Given the description of an element on the screen output the (x, y) to click on. 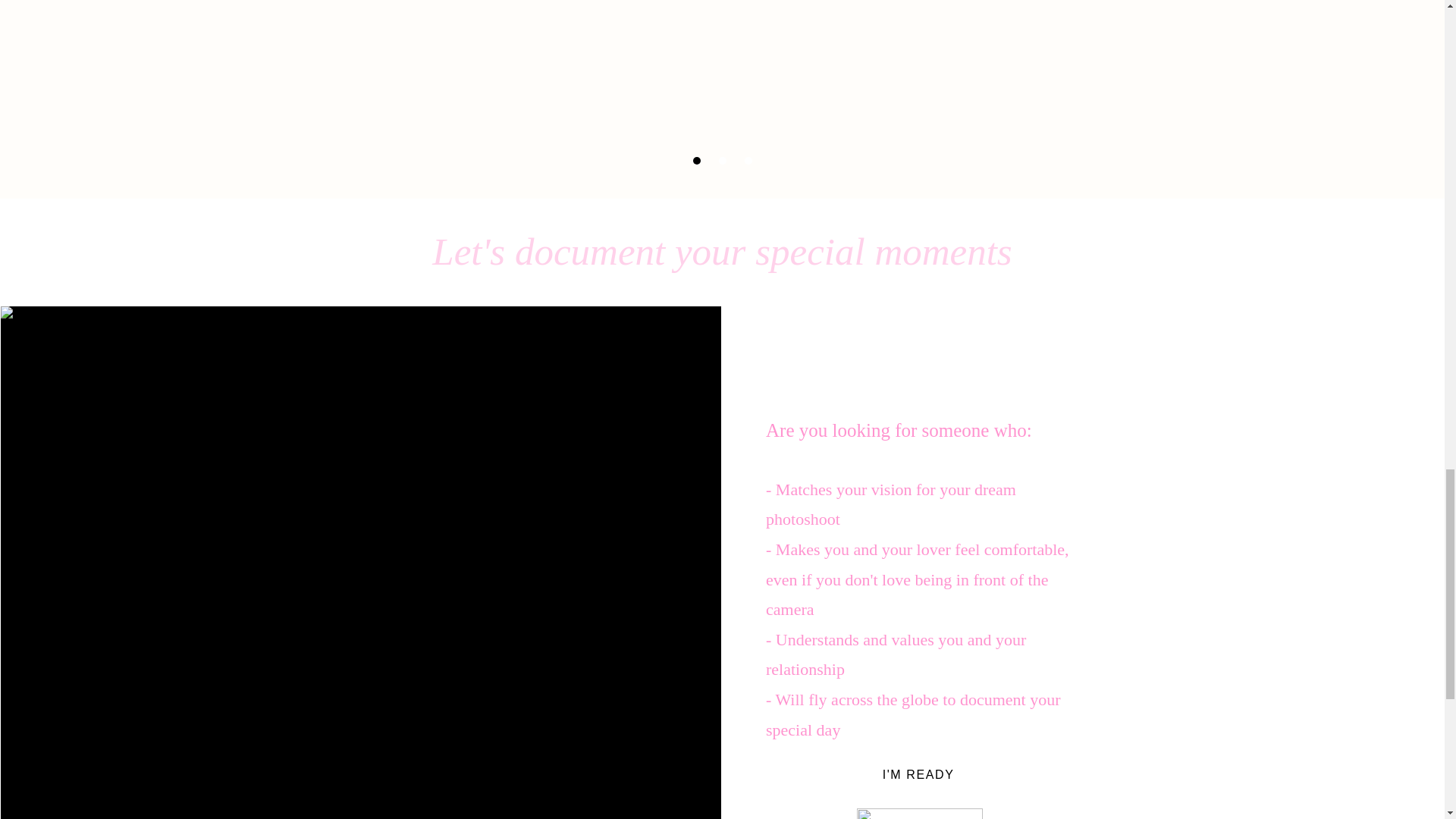
I'M READY (919, 774)
